Given the description of an element on the screen output the (x, y) to click on. 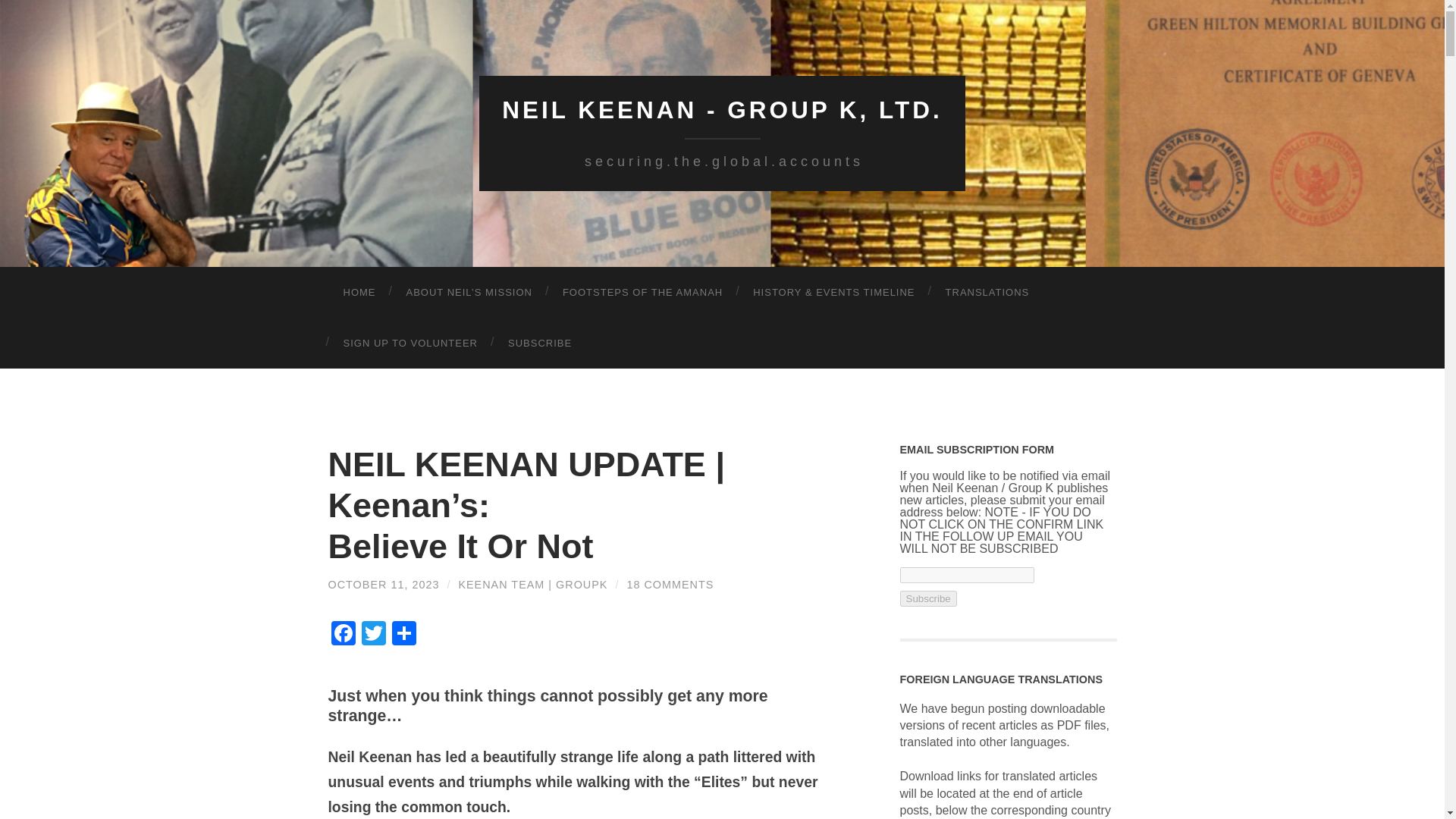
SIGN UP TO VOLUNTEER (410, 341)
HOME (358, 291)
Subscribe (927, 597)
SUBSCRIBE (539, 341)
Twitter (373, 634)
Facebook (342, 634)
TRANSLATIONS (987, 291)
NEIL KEENAN - GROUP K, LTD. (722, 109)
FOOTSTEPS OF THE AMANAH (642, 291)
Twitter (373, 634)
18 COMMENTS (669, 583)
Facebook (342, 634)
OCTOBER 11, 2023 (383, 583)
